Given the description of an element on the screen output the (x, y) to click on. 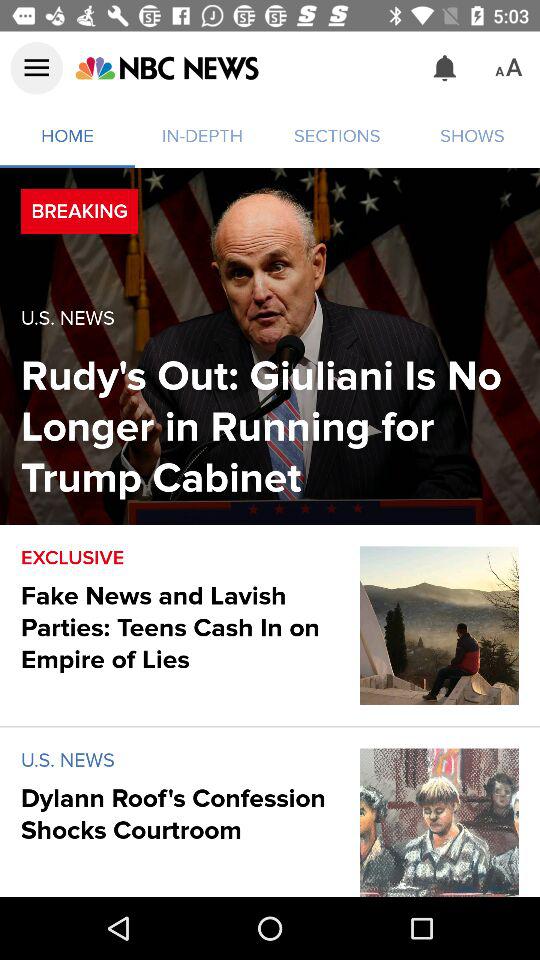
visit nbc news homepage (166, 68)
